Given the description of an element on the screen output the (x, y) to click on. 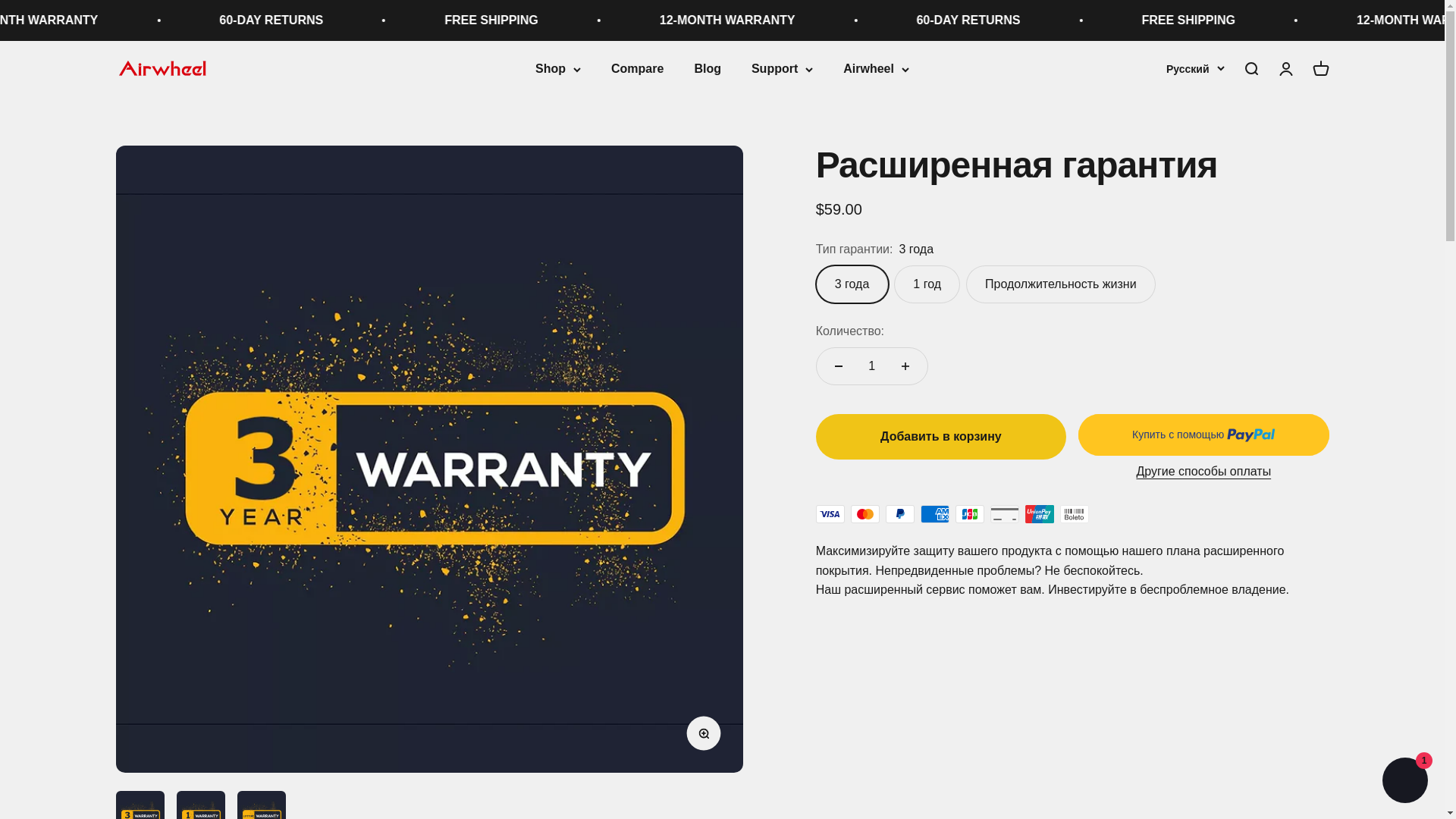
Blog (707, 68)
Shop (557, 68)
Compare (637, 68)
AirWheel Shop (162, 68)
